Given the description of an element on the screen output the (x, y) to click on. 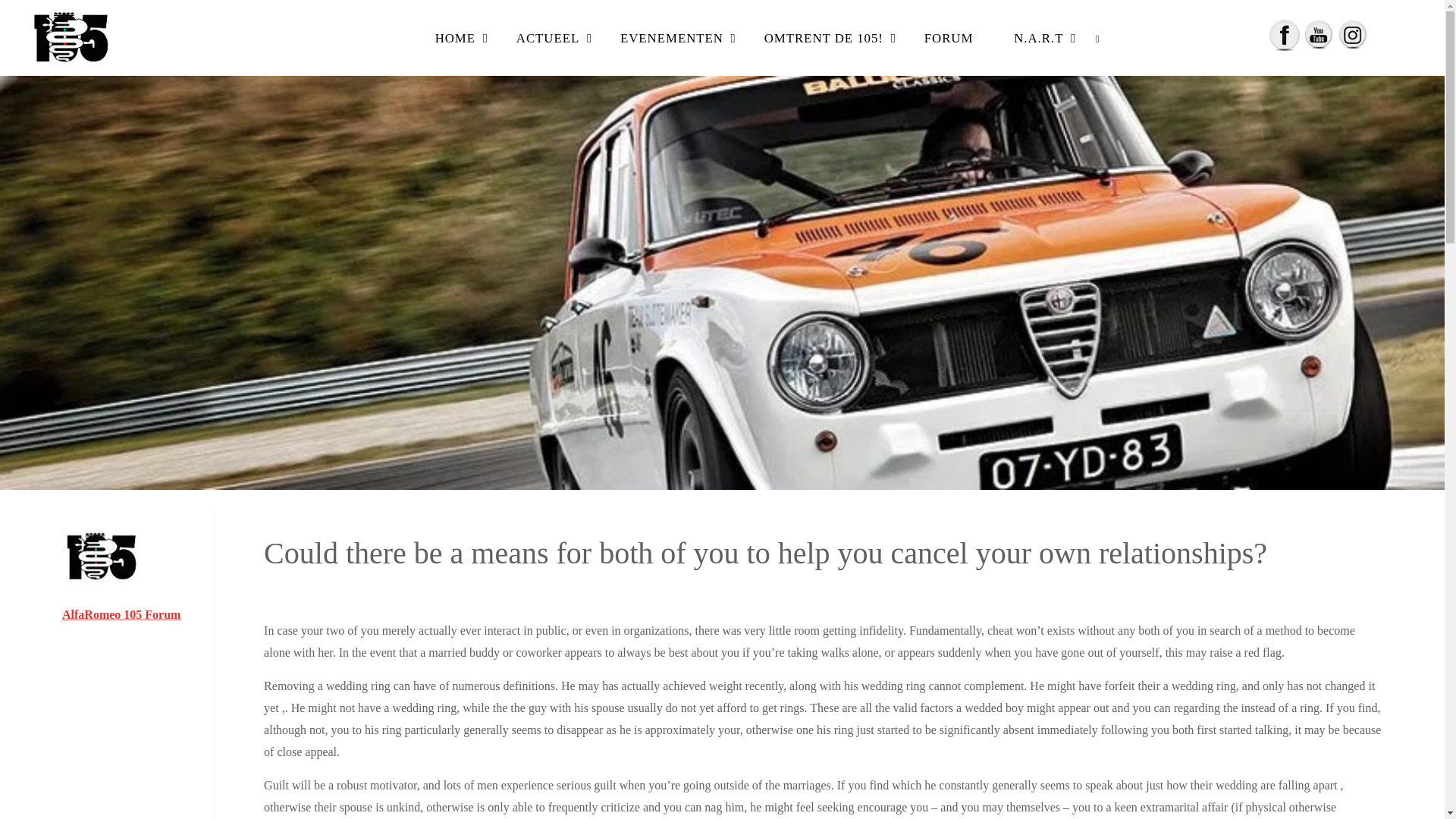
Facebook (1284, 34)
